Given the description of an element on the screen output the (x, y) to click on. 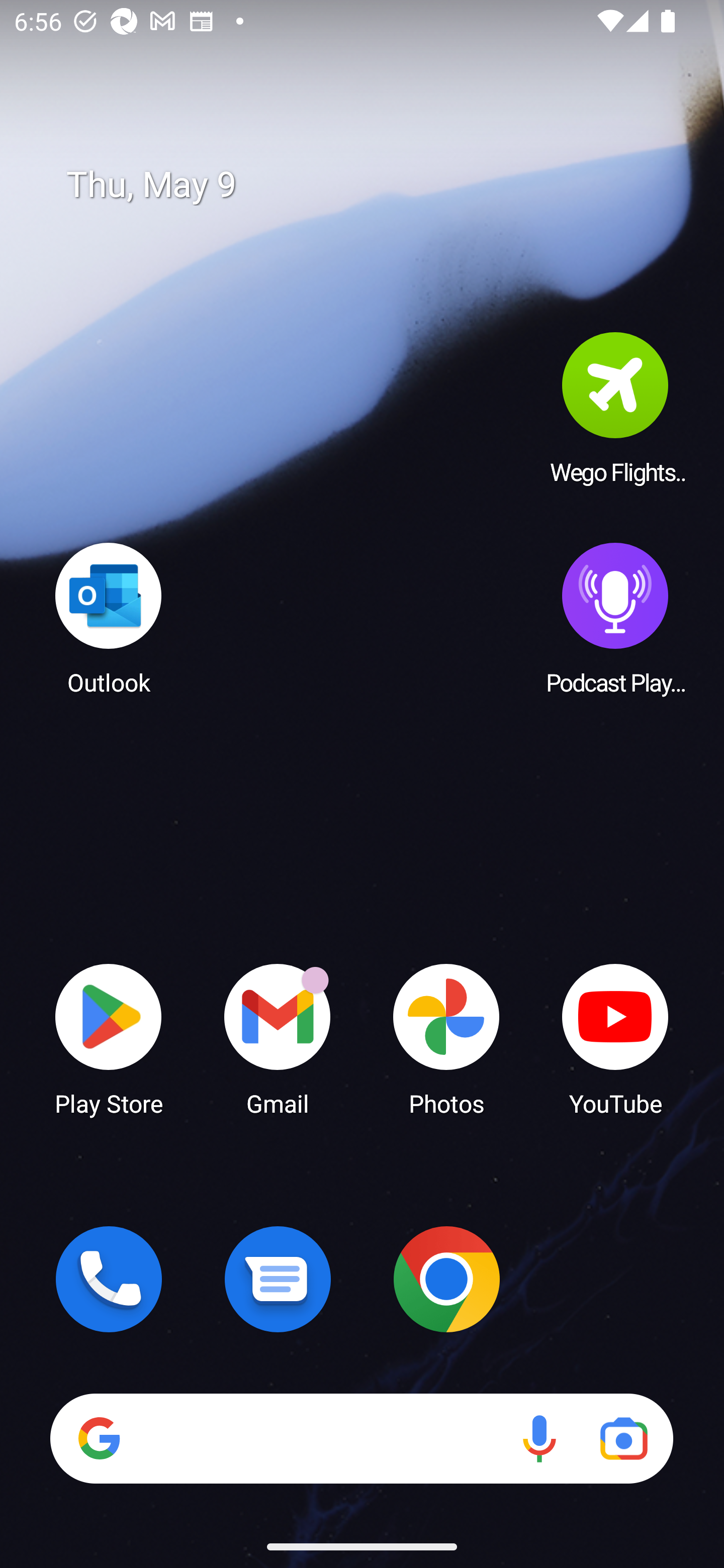
Thu, May 9 (375, 184)
Wego Flights & Hotels (615, 407)
Outlook (108, 617)
Podcast Player (615, 617)
Play Store (108, 1038)
Gmail Gmail has 18 notifications (277, 1038)
Photos (445, 1038)
YouTube (615, 1038)
Phone (108, 1279)
Messages (277, 1279)
Chrome (446, 1279)
Search Voice search Google Lens (361, 1438)
Voice search (539, 1438)
Google Lens (623, 1438)
